Given the description of an element on the screen output the (x, y) to click on. 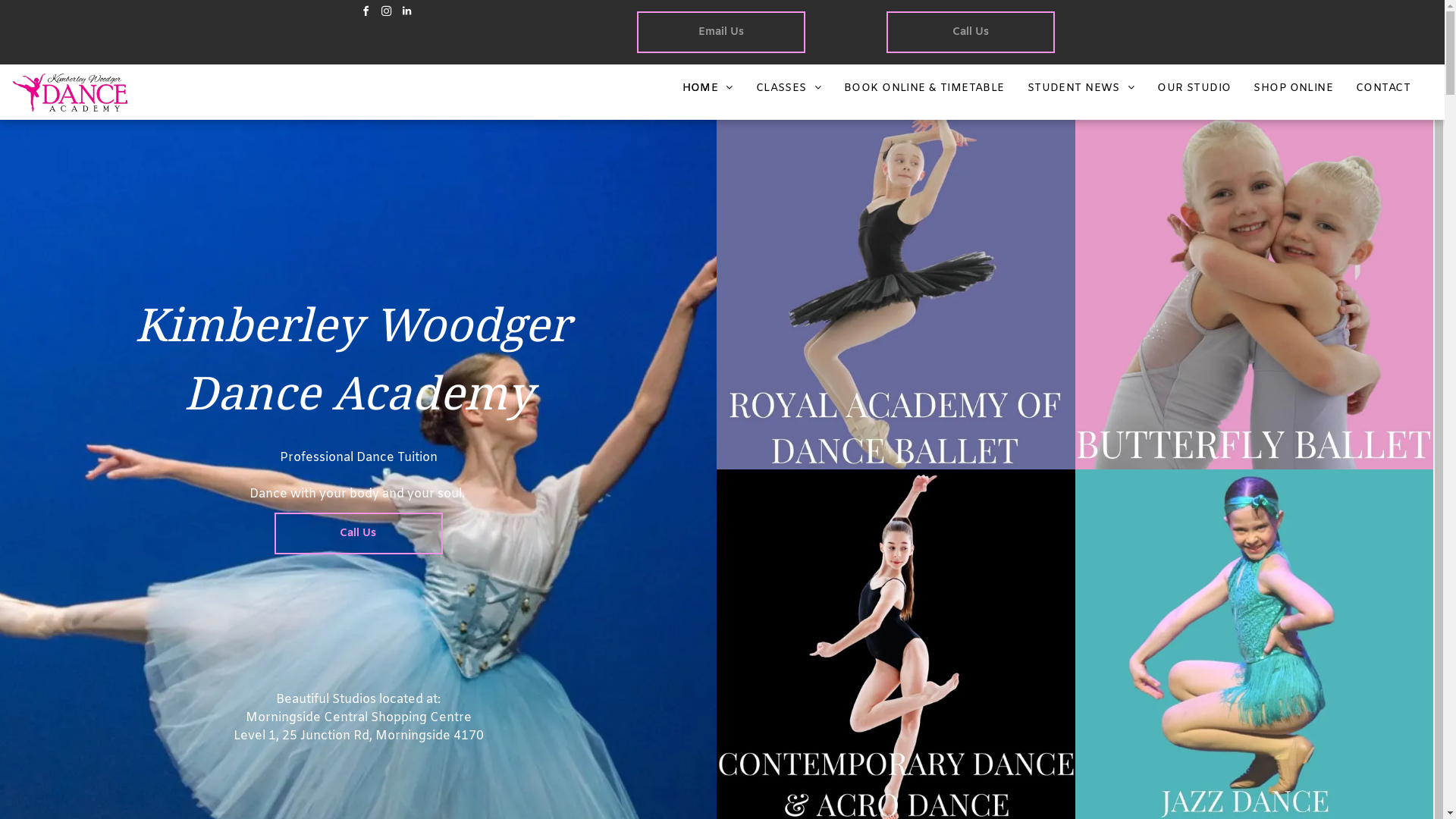
Call Us Element type: text (358, 533)
HOME Element type: text (707, 88)
OUR STUDIO Element type: text (1193, 88)
CLASSES Element type: text (788, 88)
BOOK ONLINE & TIMETABLE Element type: text (924, 88)
Call Us Element type: text (970, 32)
STUDENT NEWS Element type: text (1080, 88)
SHOP ONLINE Element type: text (1293, 88)
CONTACT Element type: text (1382, 88)
Email Us Element type: text (721, 32)
